Given the description of an element on the screen output the (x, y) to click on. 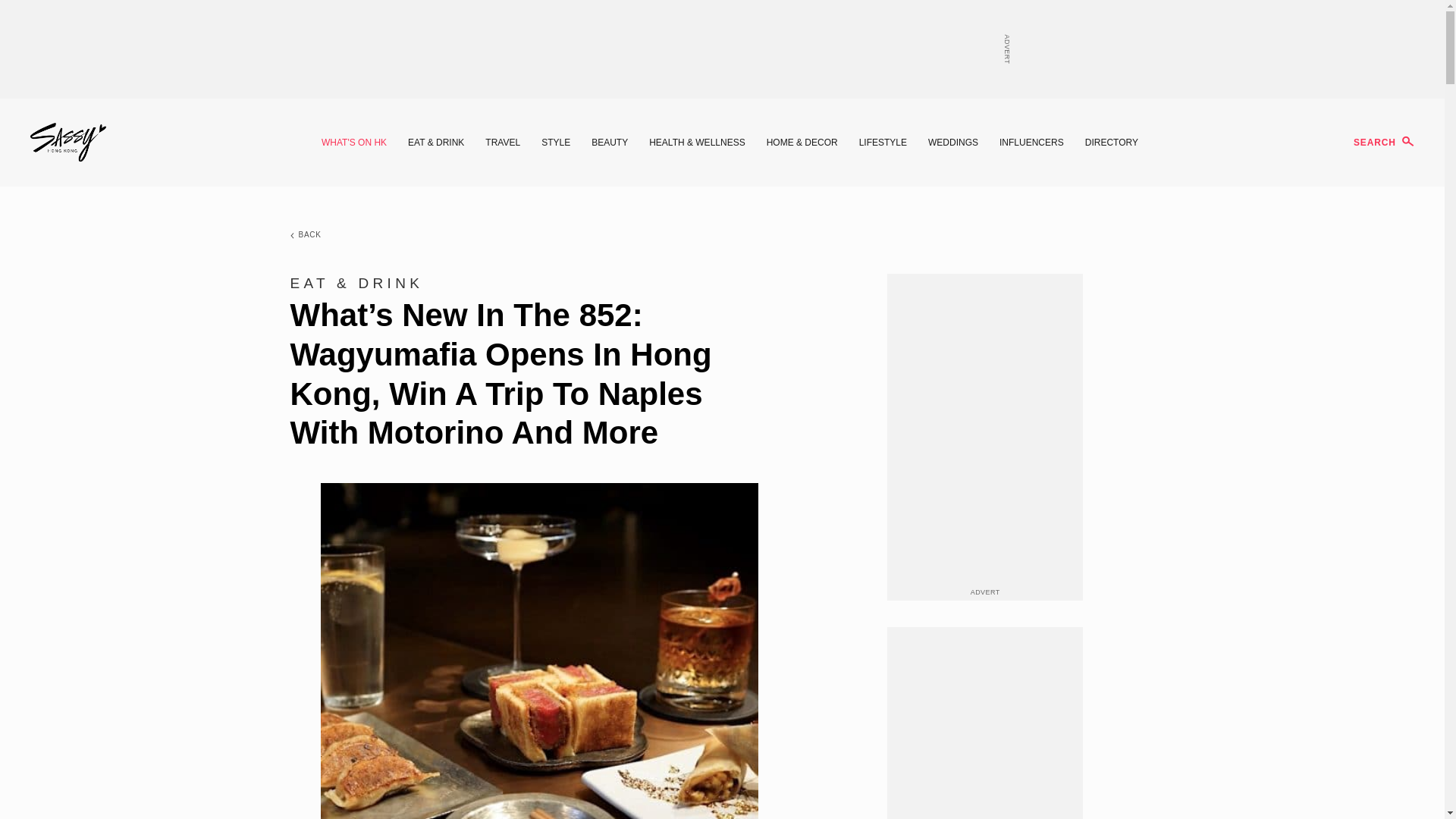
3rd party ad content (721, 49)
WHAT'S ON HK (354, 142)
TRAVEL (501, 142)
Sassy Hong Kong (68, 142)
